Given the description of an element on the screen output the (x, y) to click on. 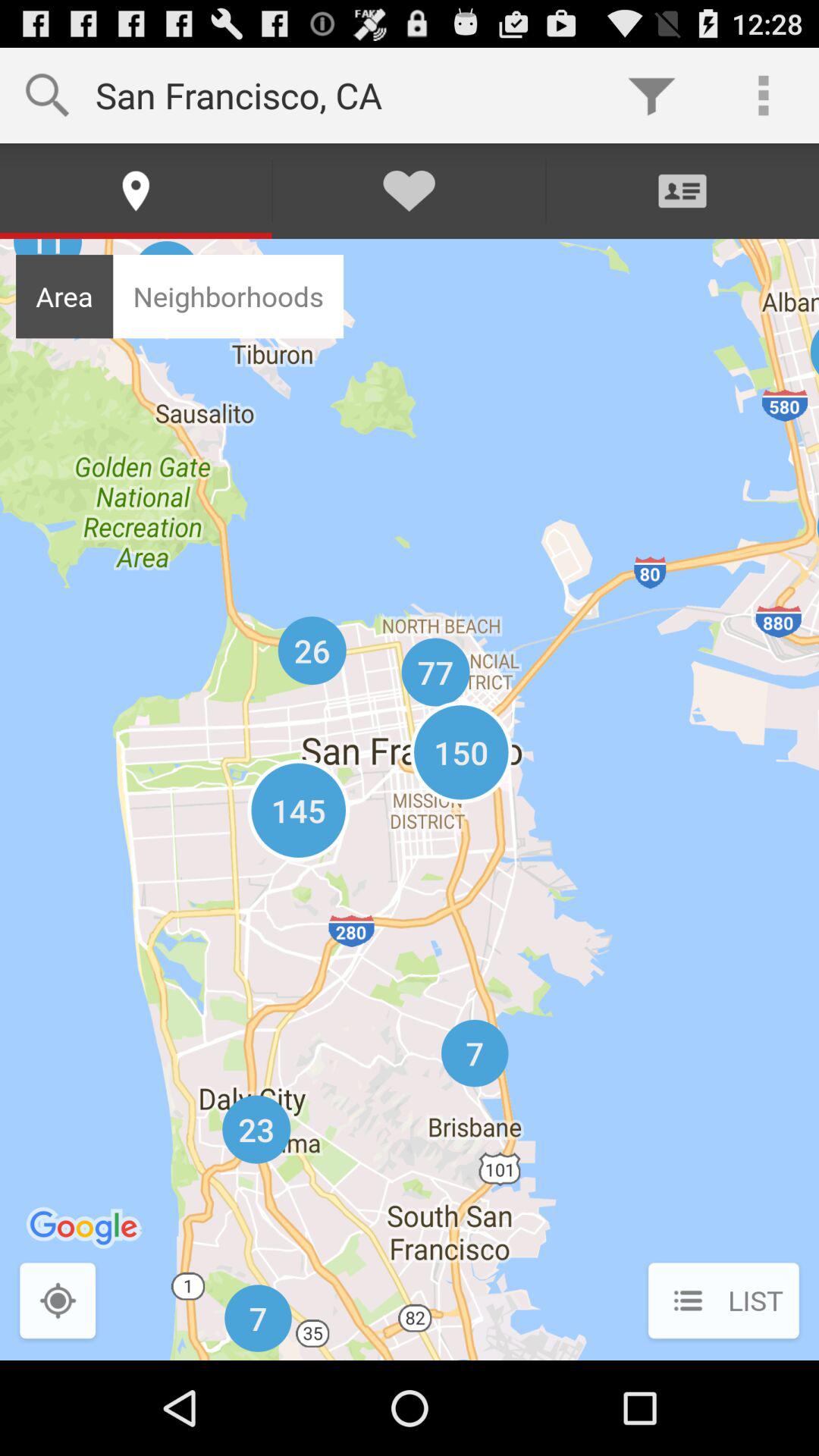
launch icon to the left of list (57, 1302)
